Given the description of an element on the screen output the (x, y) to click on. 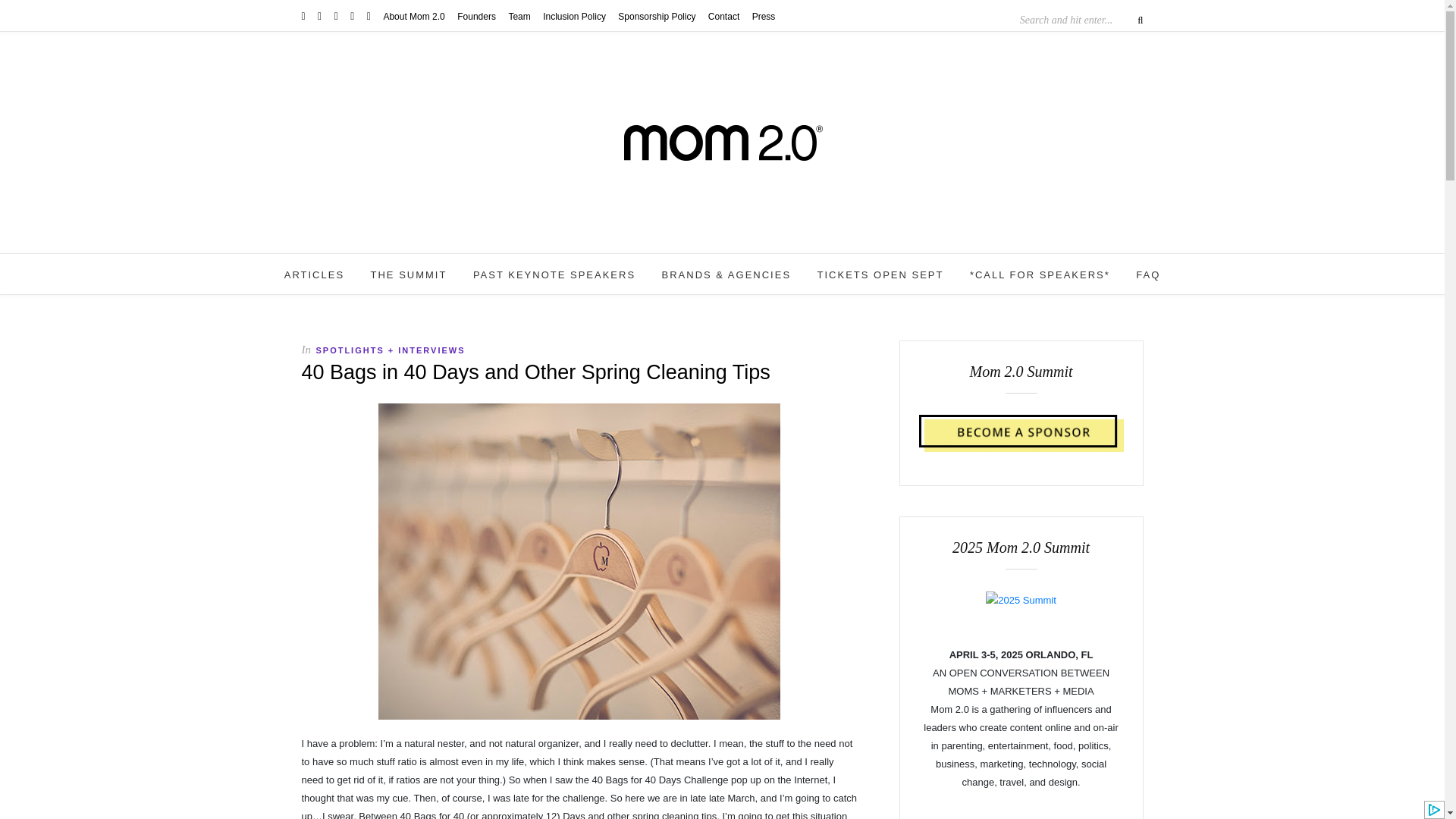
TICKETS OPEN SEPT (879, 274)
Team (518, 16)
Founders (476, 16)
PAST KEYNOTE SPEAKERS (553, 274)
Press (764, 16)
THE SUMMIT (408, 274)
ARTICLES (313, 274)
Contact (723, 16)
Sponsorship Policy (656, 16)
About Mom 2.0 (413, 16)
